Given the description of an element on the screen output the (x, y) to click on. 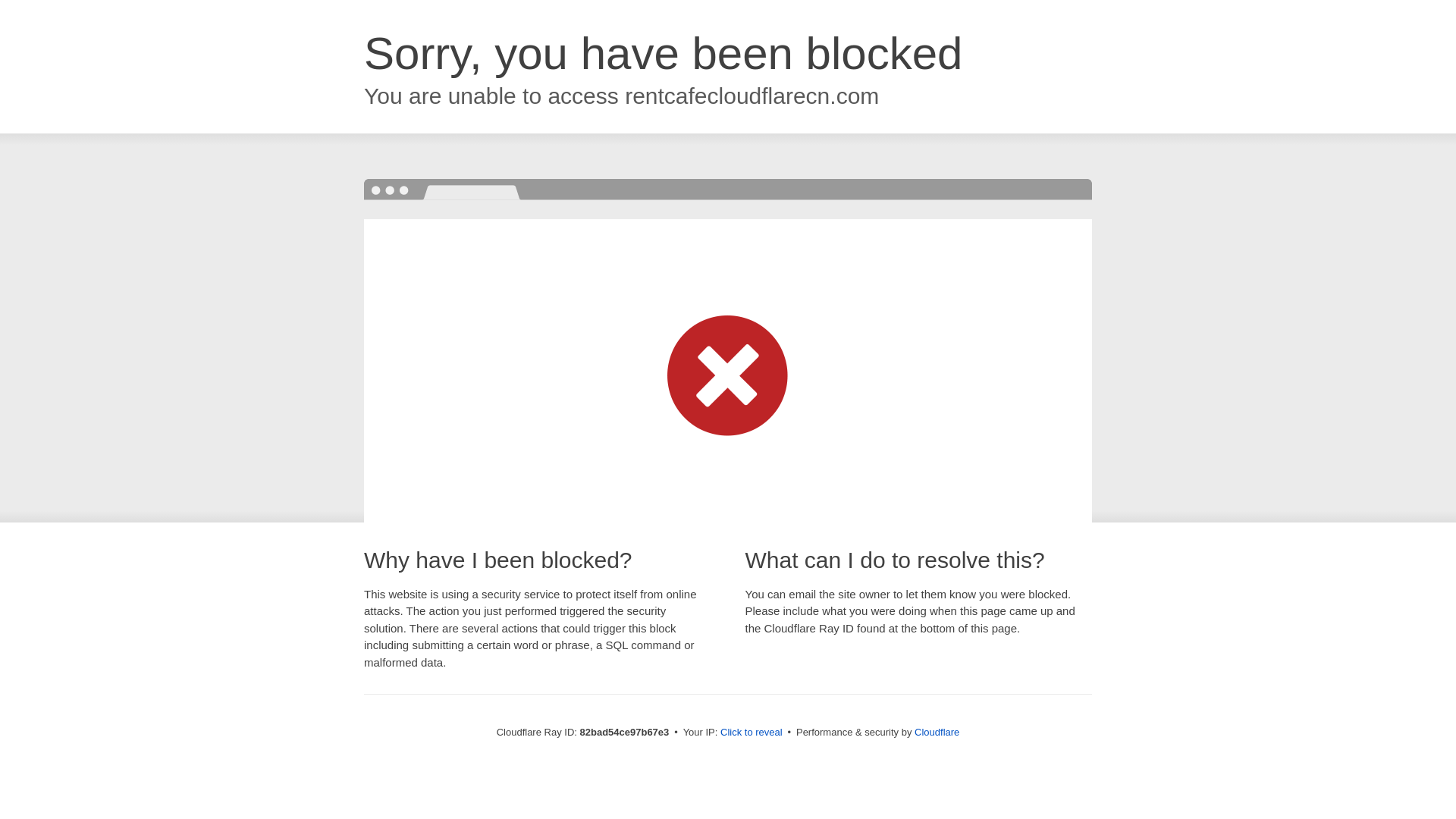
Cloudflare Element type: text (936, 731)
Click to reveal Element type: text (751, 732)
